Given the description of an element on the screen output the (x, y) to click on. 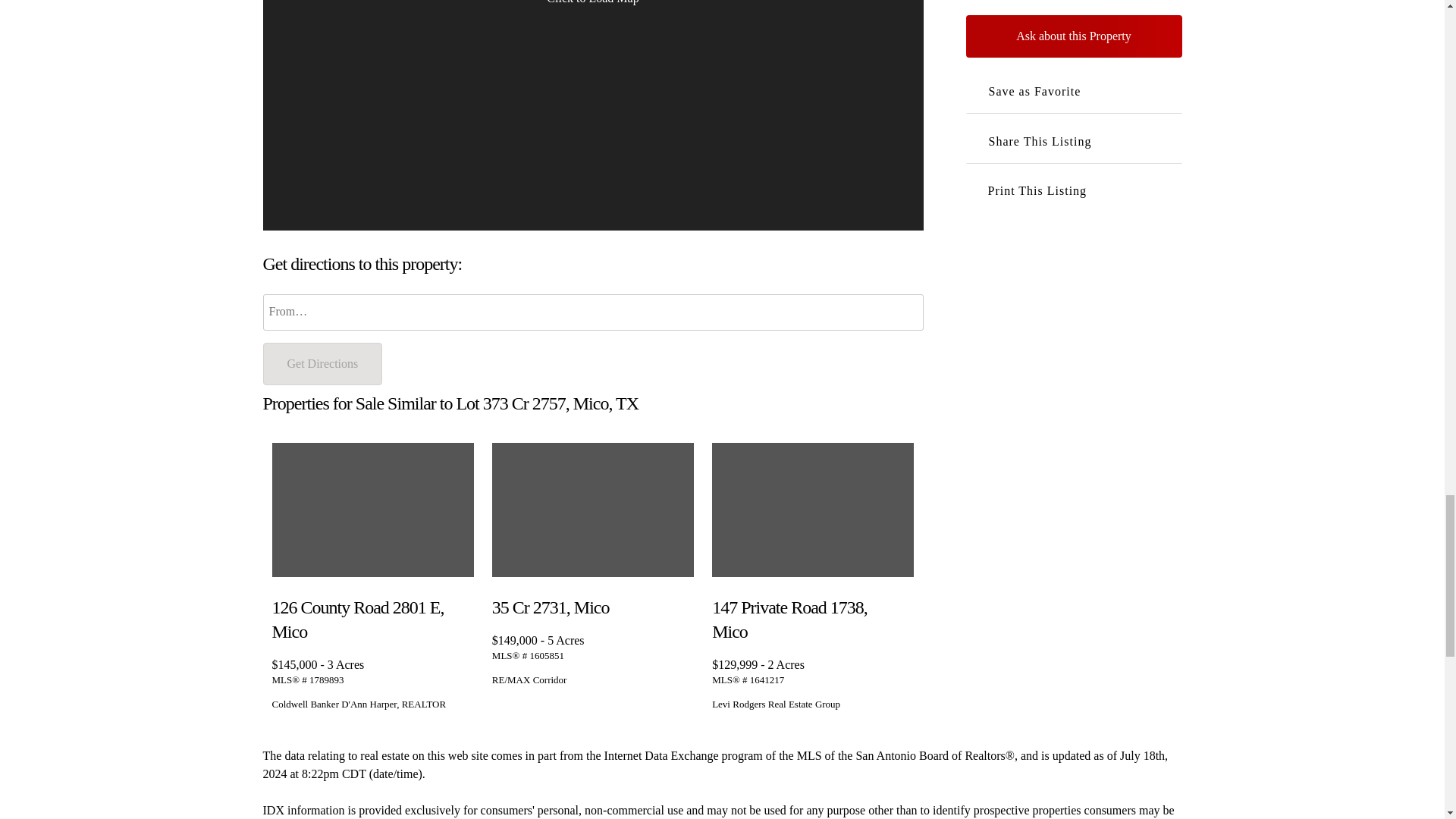
Save Listing (683, 604)
Save Listing (903, 604)
Save Listing (463, 604)
